Given the description of an element on the screen output the (x, y) to click on. 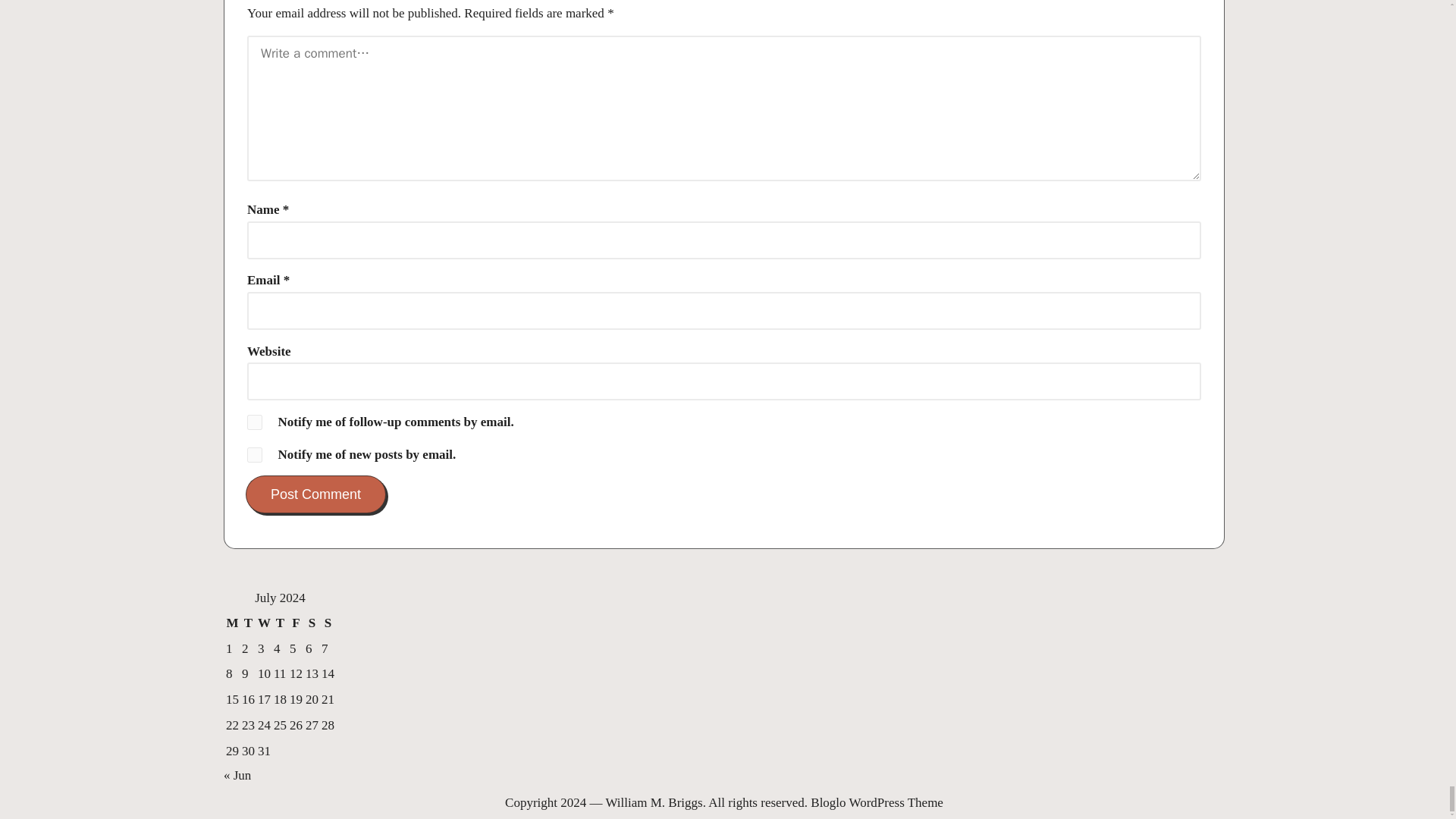
subscribe (254, 454)
Post Comment (315, 494)
subscribe (254, 421)
